Given the description of an element on the screen output the (x, y) to click on. 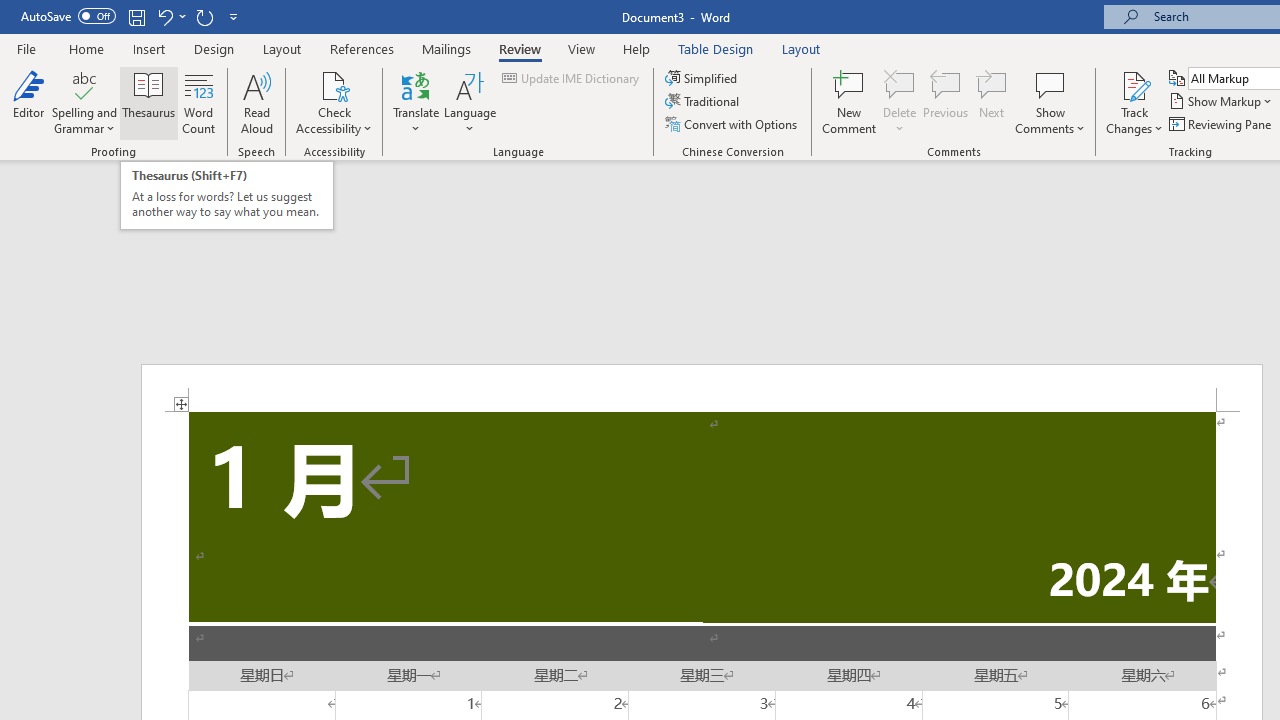
Next (991, 102)
Check Accessibility (334, 102)
Word Count (198, 102)
Show Comments (1050, 84)
Delete (900, 102)
Simplified (702, 78)
Read Aloud (256, 102)
Traditional (703, 101)
